Given the description of an element on the screen output the (x, y) to click on. 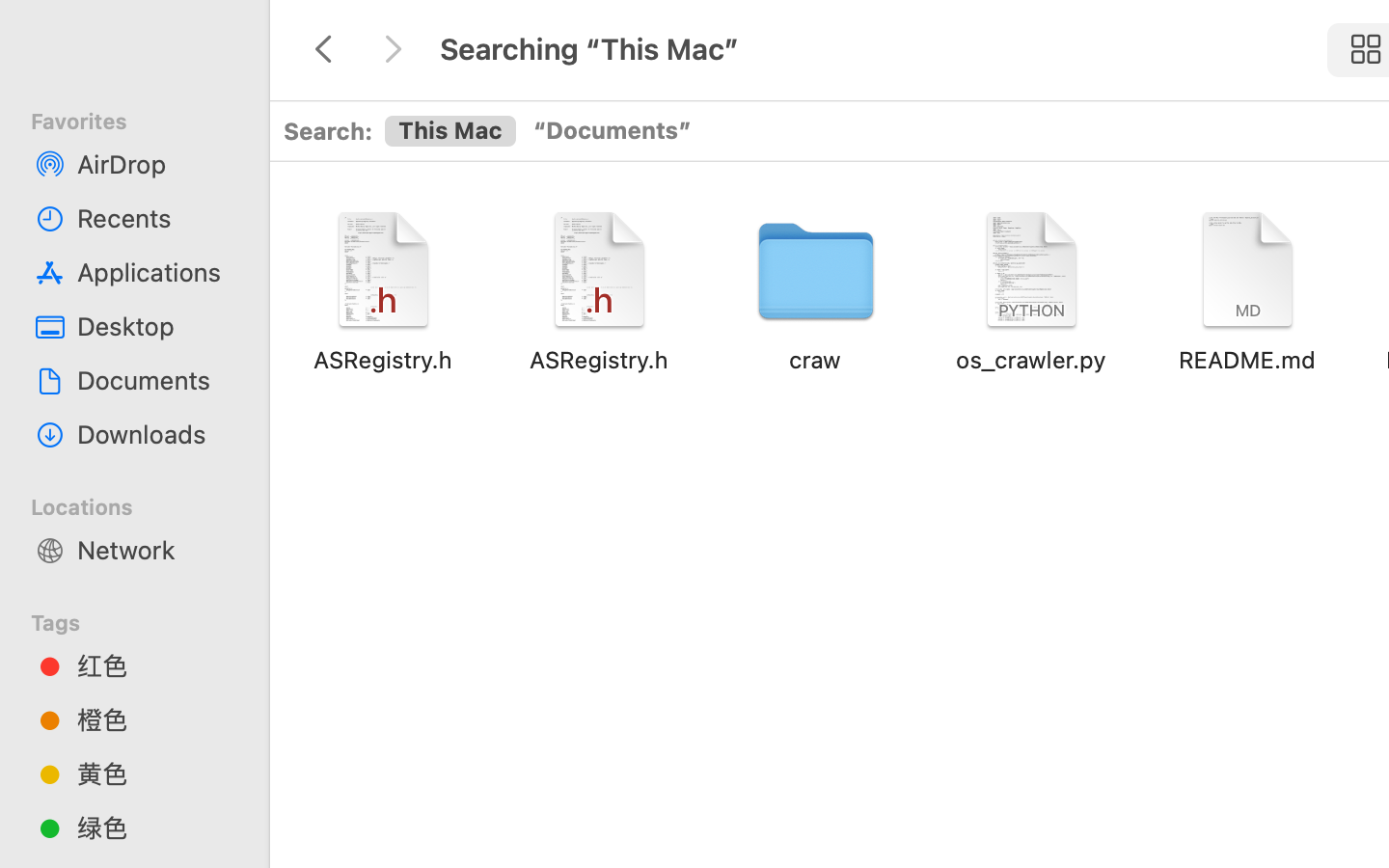
Favorites Element type: AXStaticText (145, 118)
Applications Element type: AXStaticText (155, 271)
AirDrop Element type: AXStaticText (155, 163)
Documents Element type: AXStaticText (155, 379)
0 Element type: AXRadioButton (611, 131)
